Given the description of an element on the screen output the (x, y) to click on. 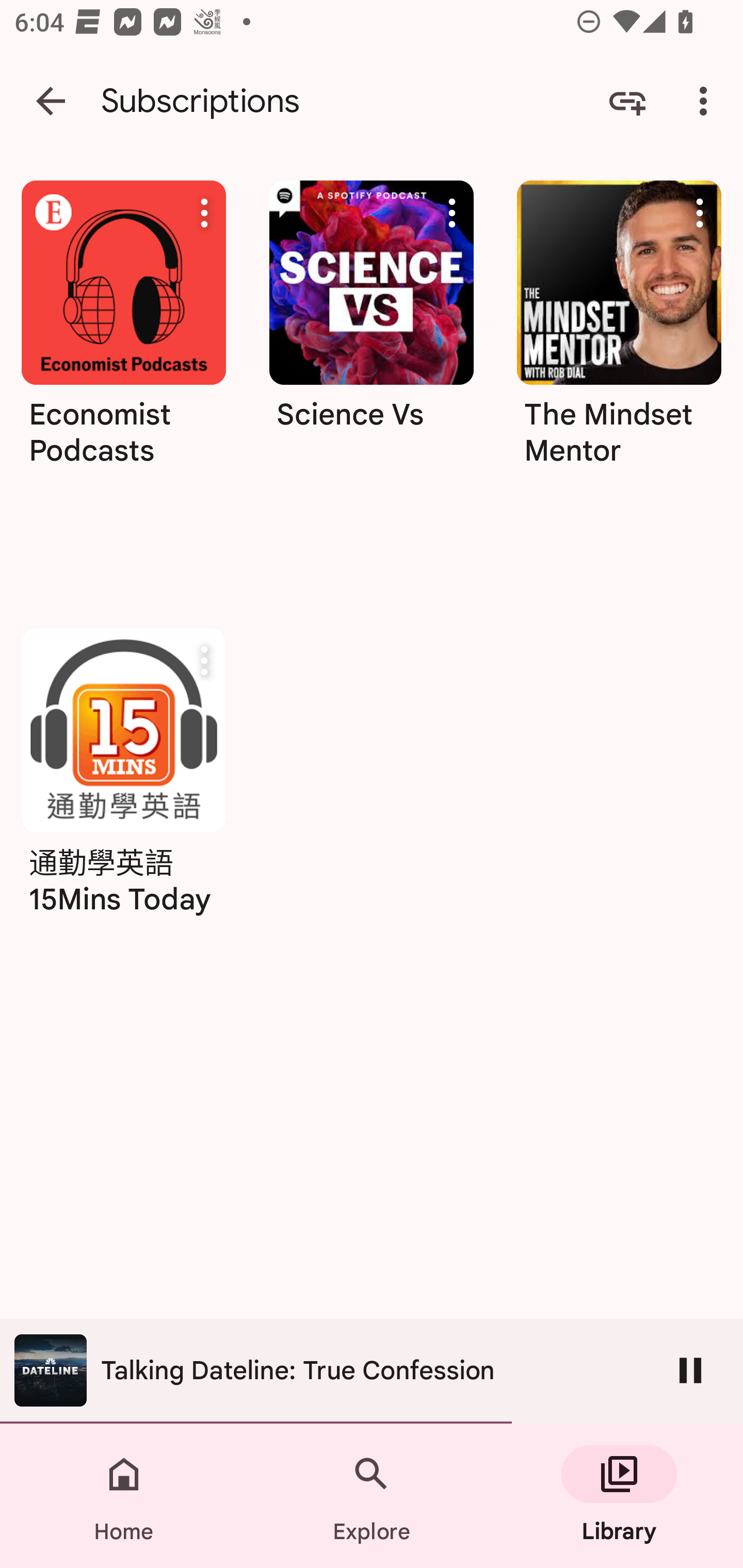
Navigate up (50, 101)
Add by RSS feed (626, 101)
More options (706, 101)
Economist Podcasts More actions Economist Podcasts (123, 382)
Science Vs More actions Science Vs (371, 329)
The Mindset Mentor More actions The Mindset Mentor (619, 329)
More actions (203, 213)
More actions (452, 213)
More actions (699, 213)
通勤學英語 15Mins Today More actions 通勤學英語 15Mins Today (123, 778)
More actions (203, 660)
Pause (690, 1370)
Home (123, 1495)
Explore (371, 1495)
